Given the description of an element on the screen output the (x, y) to click on. 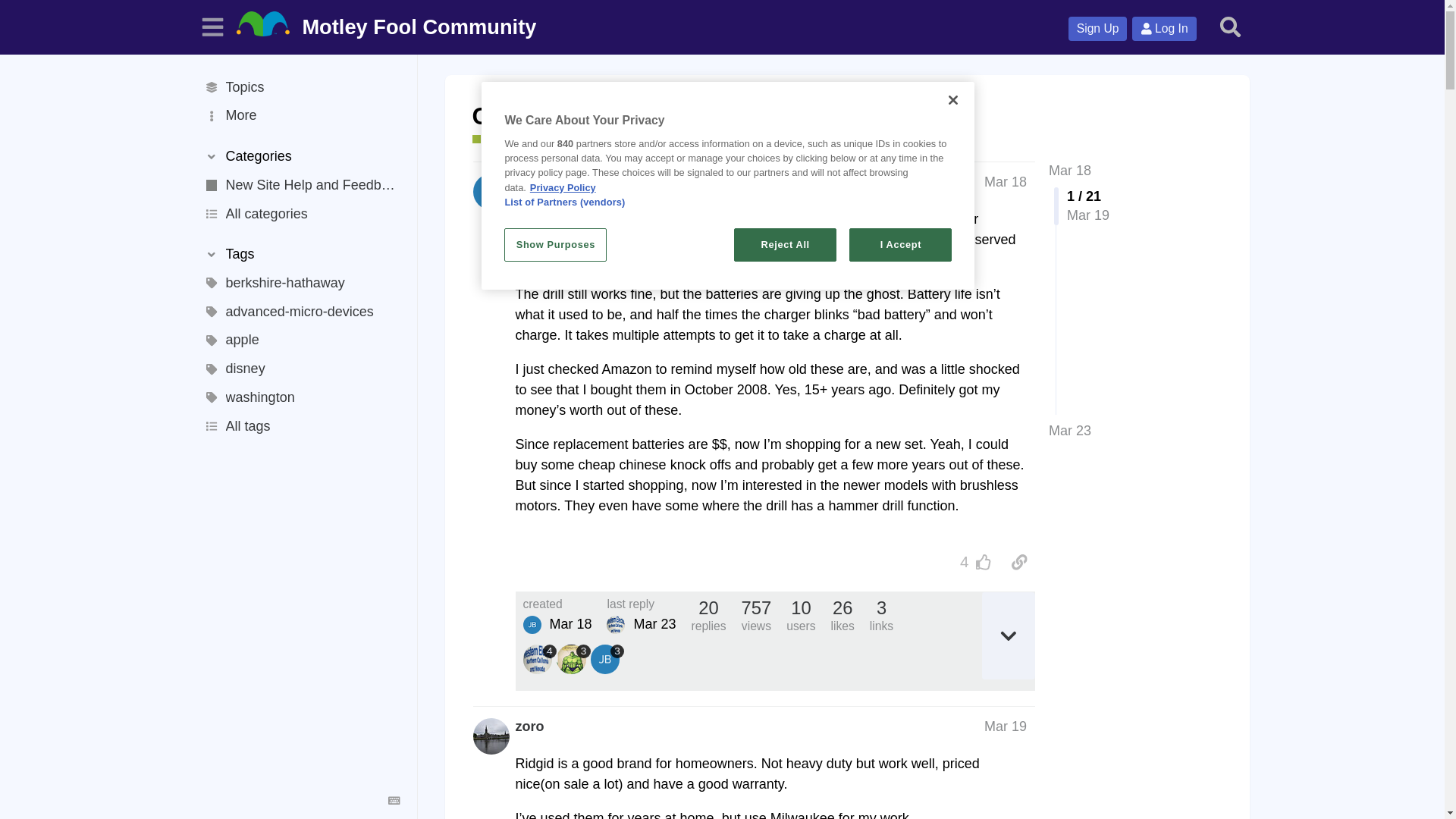
Motley Fool Community (389, 27)
Mar 23 (1069, 430)
All tags (300, 426)
Categories (300, 156)
Log In (1163, 28)
3 (573, 659)
Post date (1005, 181)
All categories (300, 213)
Keyboard Shortcuts (394, 800)
Sign Up (1097, 28)
Toggle section (300, 254)
4 (539, 659)
Tags (300, 254)
Toggle section (300, 156)
Search (1230, 27)
